Given the description of an element on the screen output the (x, y) to click on. 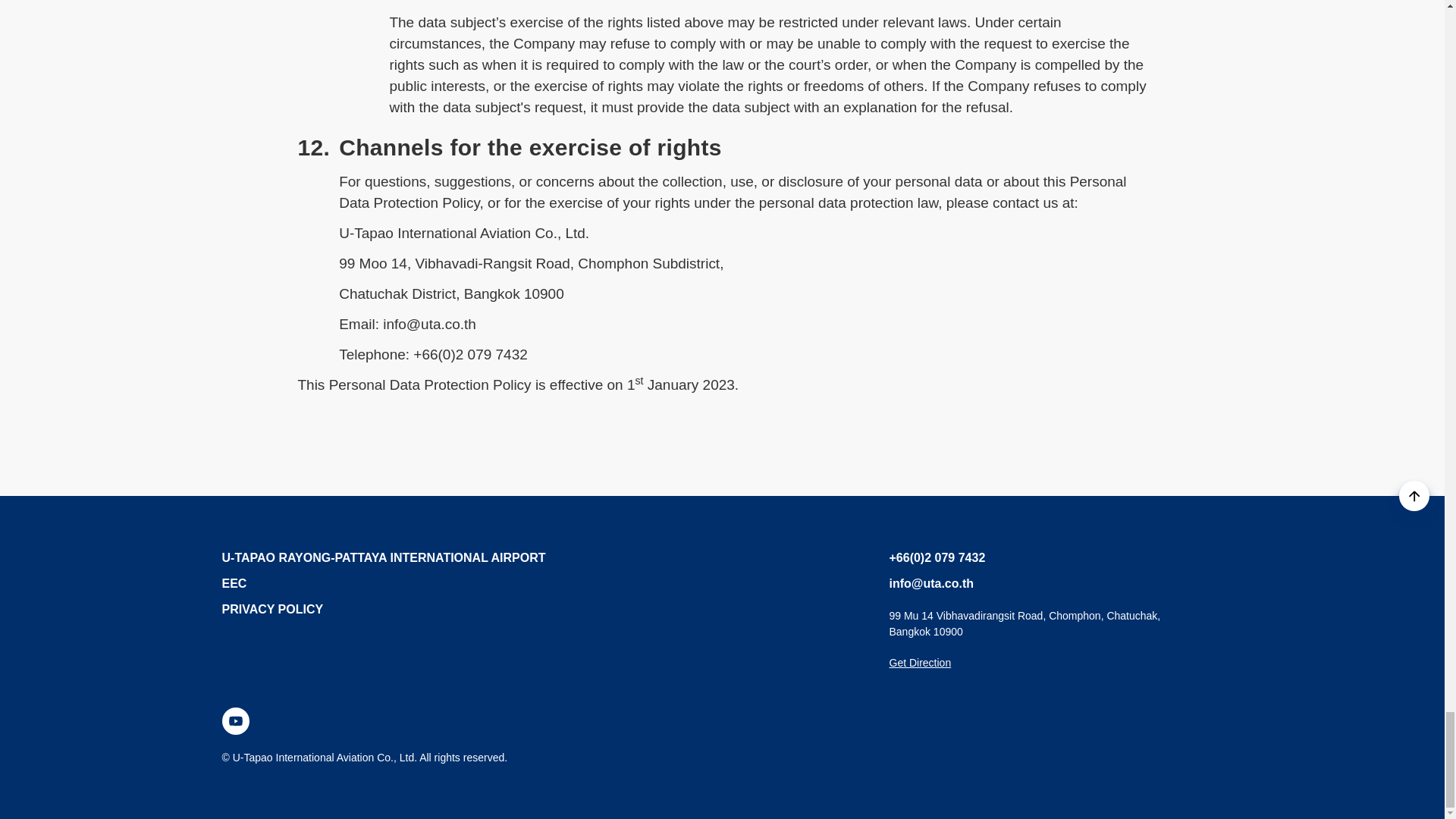
Get Direction (919, 662)
EEC (382, 557)
PRIVACY POLICY (233, 583)
